Given the description of an element on the screen output the (x, y) to click on. 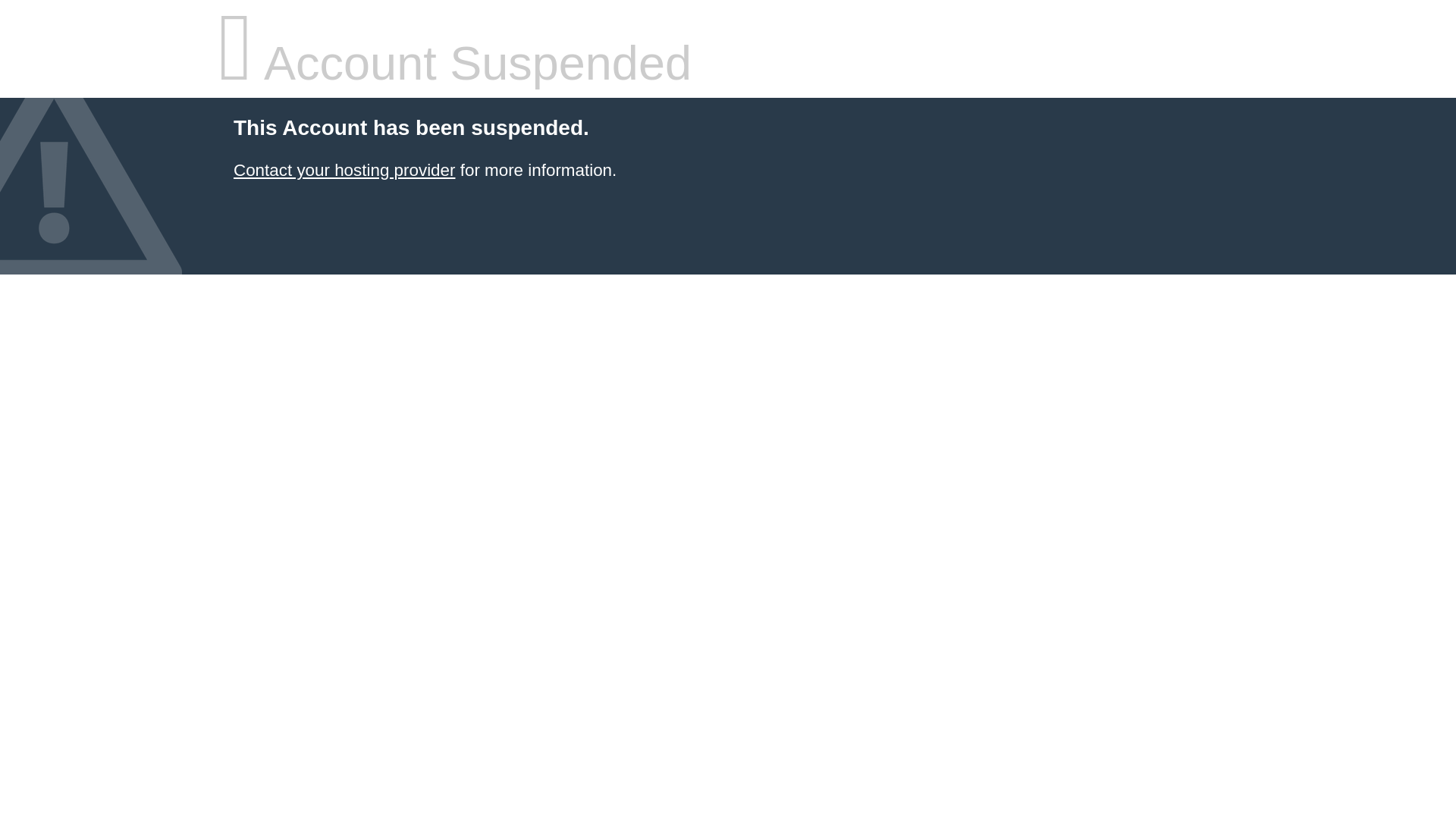
Contact your hosting provider (343, 169)
